Given the description of an element on the screen output the (x, y) to click on. 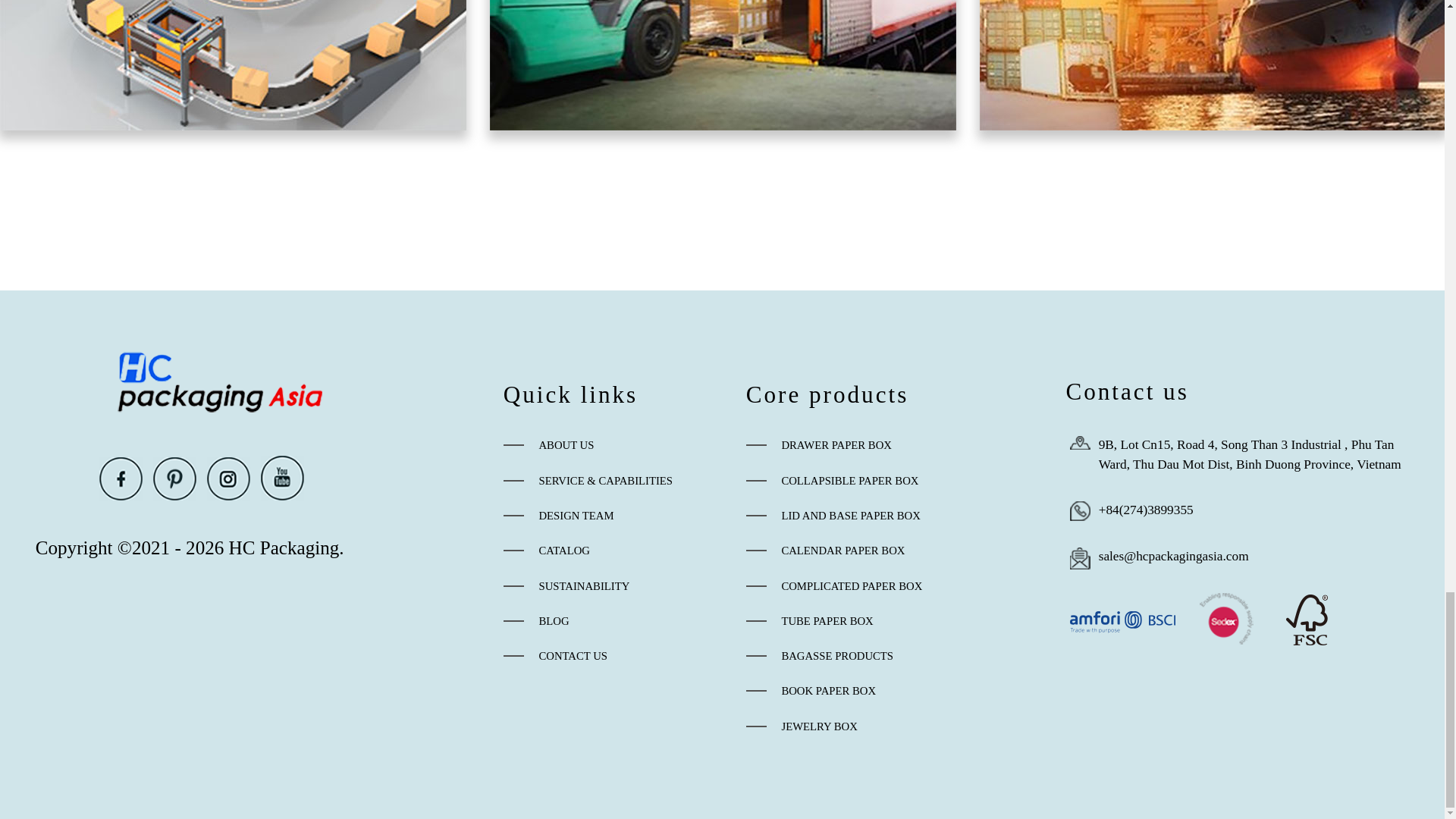
LID AND BASE PAPER BOX (891, 515)
DESIGN TEAM (612, 515)
DRAWER PAPER BOX (891, 444)
ABOUT US (612, 444)
SUSTAINABILITY (612, 586)
BLOG (612, 620)
CONTACT US (612, 655)
COLLAPSIBLE PAPER BOX (891, 480)
CATALOG (612, 550)
